Given the description of an element on the screen output the (x, y) to click on. 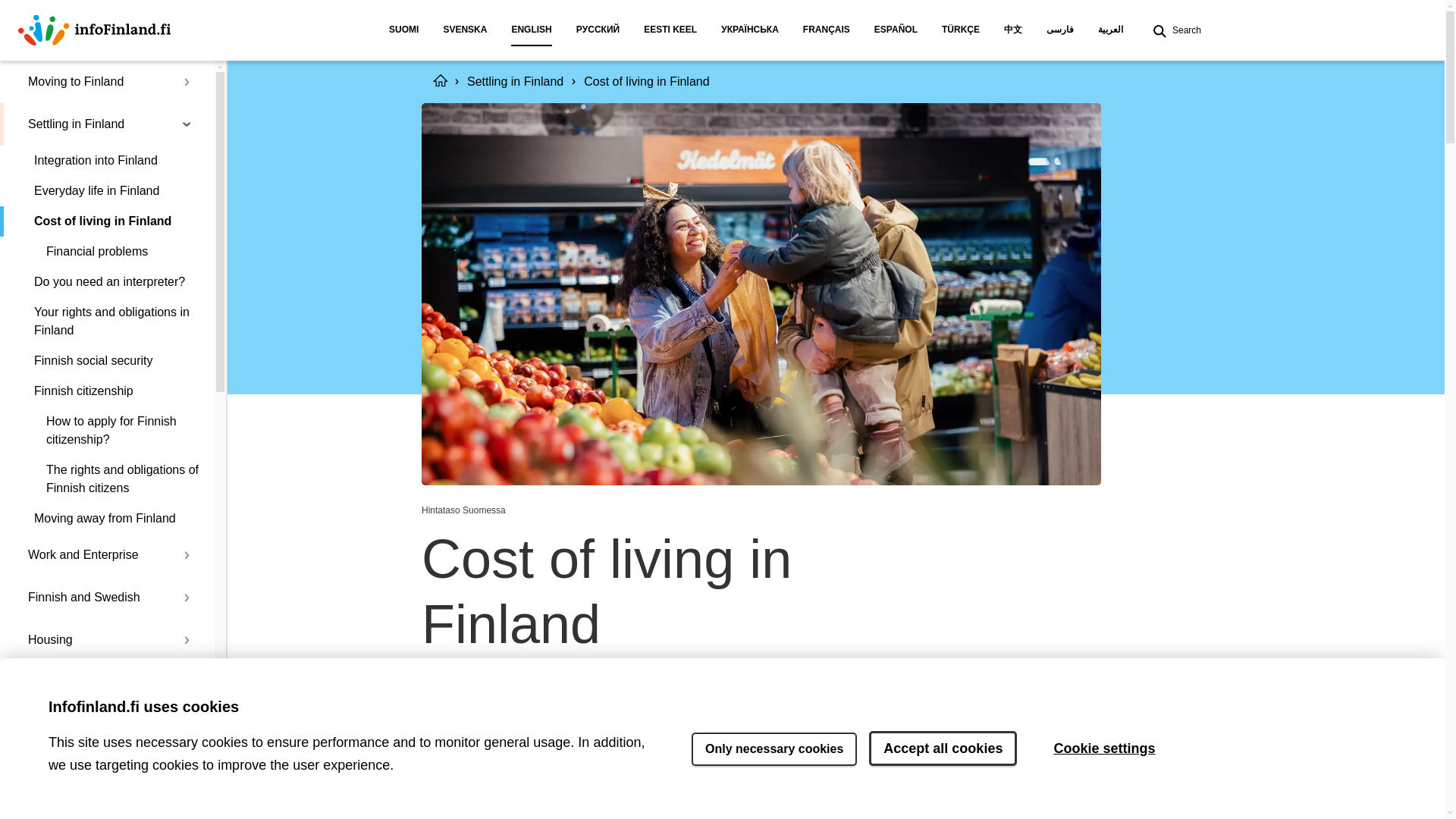
Moving to Finland (94, 81)
Svenska (464, 29)
Eesti keel (670, 29)
ENGLISH (531, 29)
Suomi (403, 29)
Search (1174, 30)
Settling in Finland (107, 124)
mainMenu.open (186, 81)
Home page (94, 29)
English (531, 29)
Search (1174, 30)
SVENSKA (464, 29)
mainMenu.open (186, 555)
EESTI KEEL (670, 29)
mainMenu.close (186, 124)
